Given the description of an element on the screen output the (x, y) to click on. 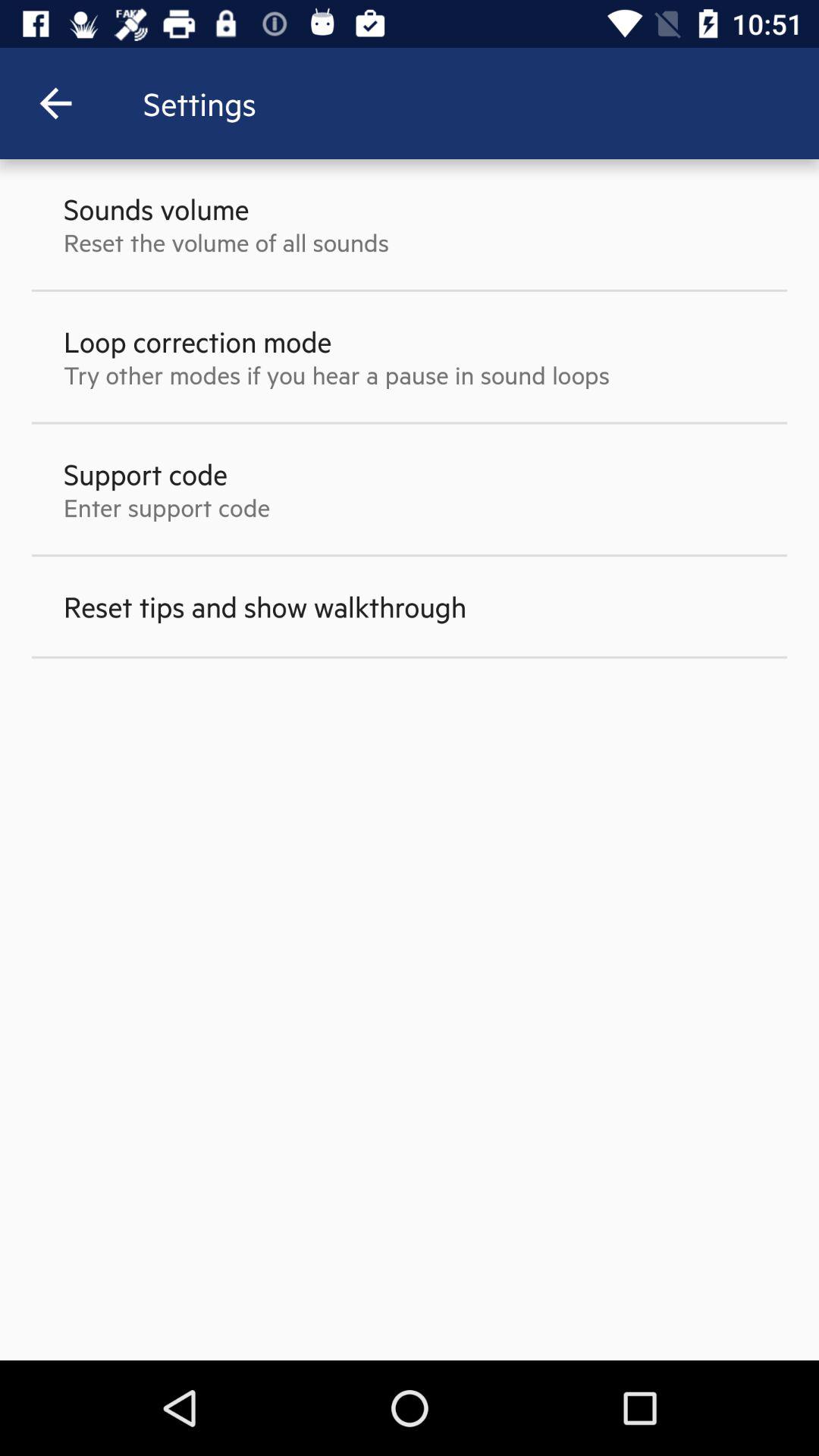
flip to reset tips and icon (264, 606)
